Given the description of an element on the screen output the (x, y) to click on. 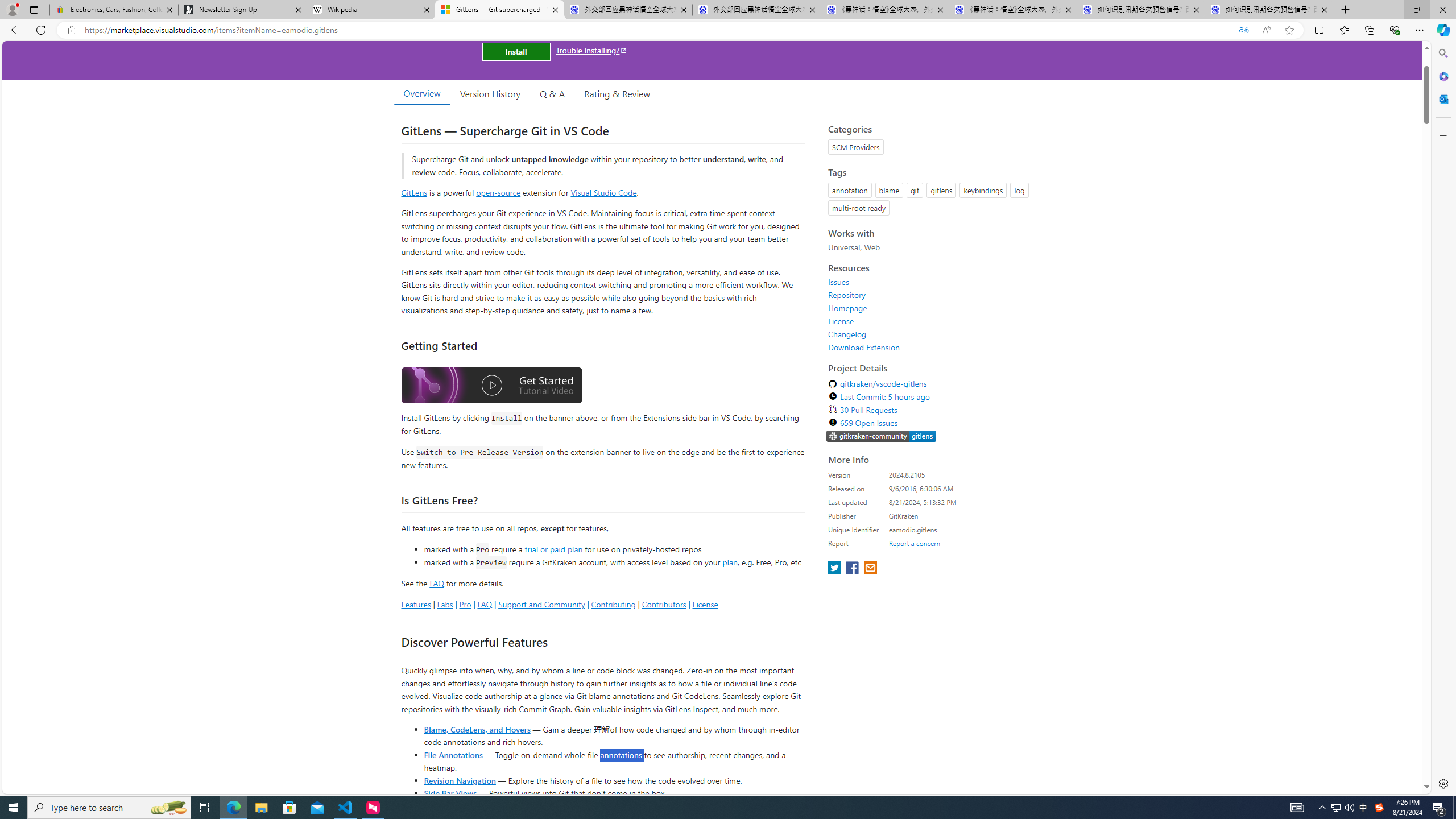
Revision Navigation (459, 780)
Features (415, 603)
Visual Studio Code (603, 192)
File Annotations (453, 754)
Wikipedia (370, 9)
